Given the description of an element on the screen output the (x, y) to click on. 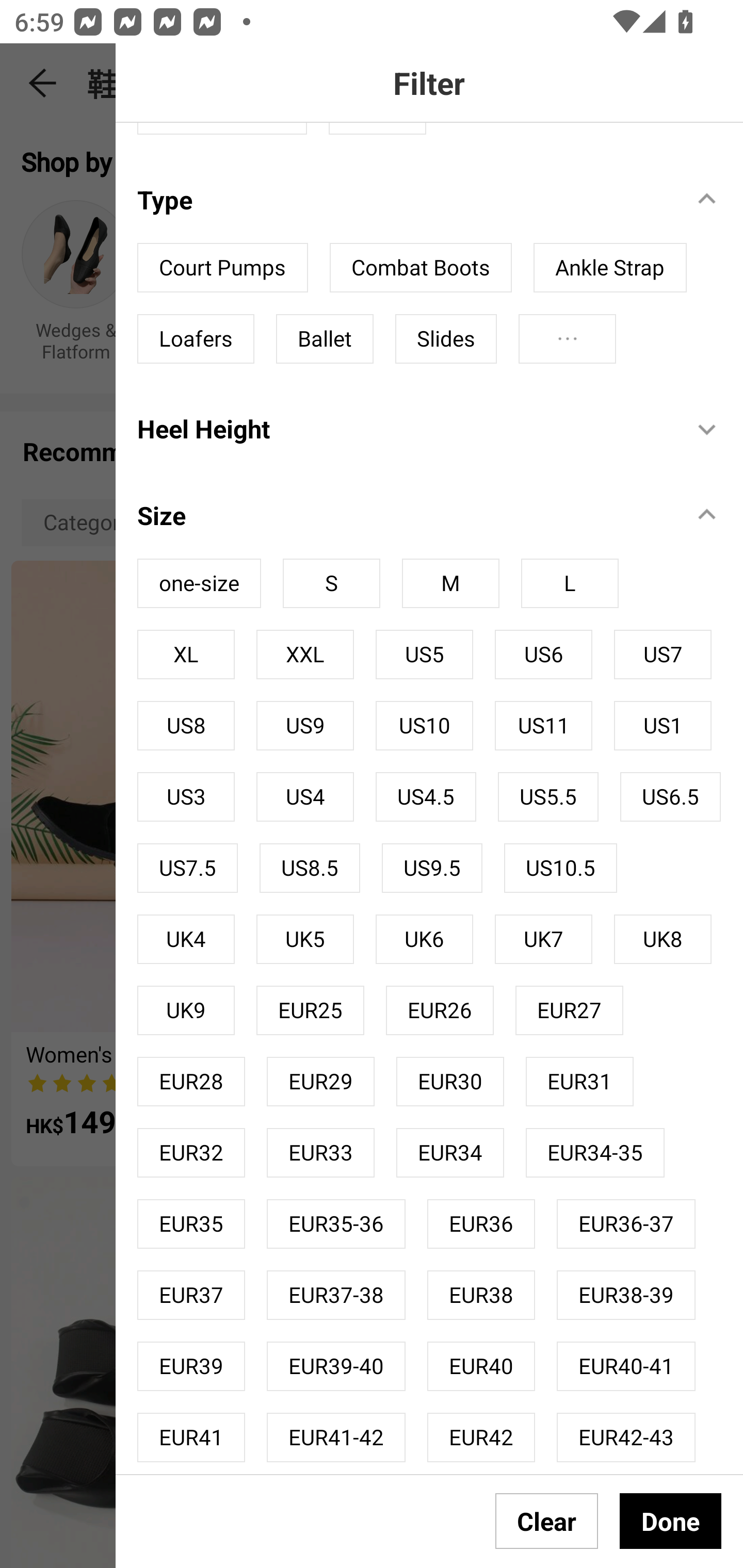
Type (403, 199)
Court Pumps (222, 268)
Combat Boots (420, 268)
Ankle Strap (609, 268)
Loafers (195, 338)
Ballet (324, 338)
Slides (446, 338)
Heel Height (403, 428)
Size (403, 514)
one-size (198, 583)
S (331, 583)
M (450, 583)
L (569, 583)
XL (185, 654)
XXL (304, 654)
US5 (424, 654)
US6 (543, 654)
US7 (662, 654)
US8 (185, 725)
US9 (304, 725)
US10 (424, 725)
US11 (543, 725)
US1 (662, 725)
US3 (185, 796)
US4 (304, 796)
US4.5 (425, 796)
US5.5 (547, 796)
US6.5 (670, 796)
US7.5 (187, 867)
US8.5 (309, 867)
US9.5 (431, 867)
US10.5 (560, 867)
UK4 (185, 939)
UK5 (304, 939)
UK6 (424, 939)
UK7 (543, 939)
UK8 (662, 939)
UK9 (185, 1010)
EUR25 (310, 1010)
EUR26 (439, 1010)
EUR27 (569, 1010)
EUR28 (191, 1081)
EUR29 (320, 1081)
EUR30 (449, 1081)
EUR31 (579, 1081)
EUR32 (191, 1152)
EUR33 (320, 1152)
EUR34 (449, 1152)
EUR34-35 (595, 1152)
EUR35 (191, 1223)
EUR35-36 (335, 1223)
EUR36 (480, 1223)
EUR36-37 (625, 1223)
EUR37 (191, 1295)
EUR37-38 (335, 1295)
EUR38 (480, 1295)
EUR38-39 (625, 1295)
EUR39 (191, 1366)
EUR39-40 (335, 1366)
EUR40 (480, 1366)
EUR40-41 (625, 1366)
EUR41 (191, 1437)
EUR41-42 (335, 1437)
EUR42 (480, 1437)
EUR42-43 (625, 1437)
Clear (546, 1520)
Done (670, 1520)
